Given the description of an element on the screen output the (x, y) to click on. 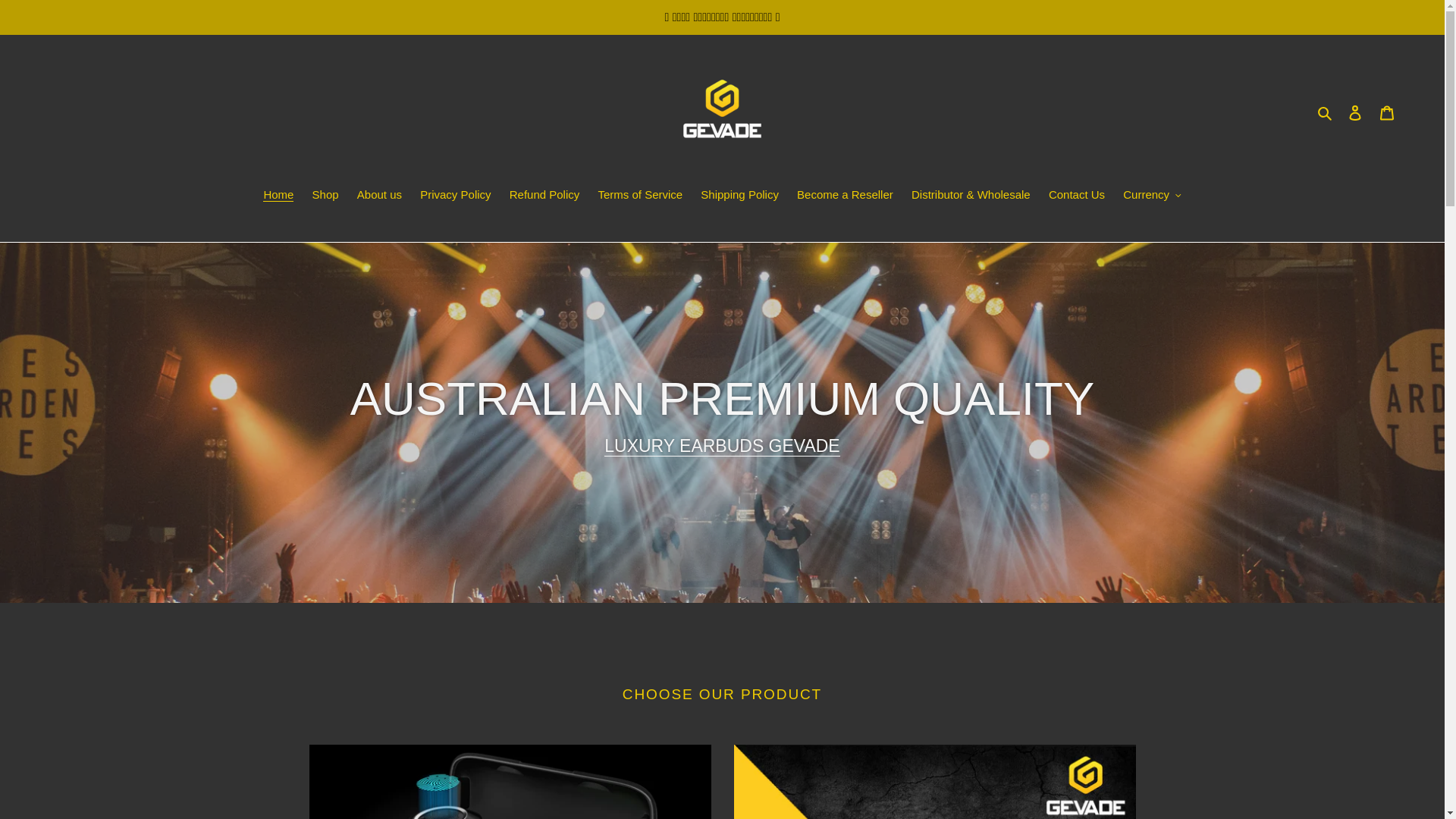
Shipping Policy Element type: text (739, 196)
Shop Element type: text (325, 196)
Search Element type: text (1325, 112)
Home Element type: text (278, 196)
Refund Policy Element type: text (544, 196)
Distributor & Wholesale Element type: text (970, 196)
Contact Us Element type: text (1076, 196)
Become a Reseller Element type: text (844, 196)
Log in Element type: text (1355, 112)
LUXURY EARBUDS GEVADE Element type: text (721, 446)
Currency Element type: text (1151, 196)
Privacy Policy Element type: text (455, 196)
Terms of Service Element type: text (639, 196)
About us Element type: text (379, 196)
Cart Element type: text (1386, 112)
